Given the description of an element on the screen output the (x, y) to click on. 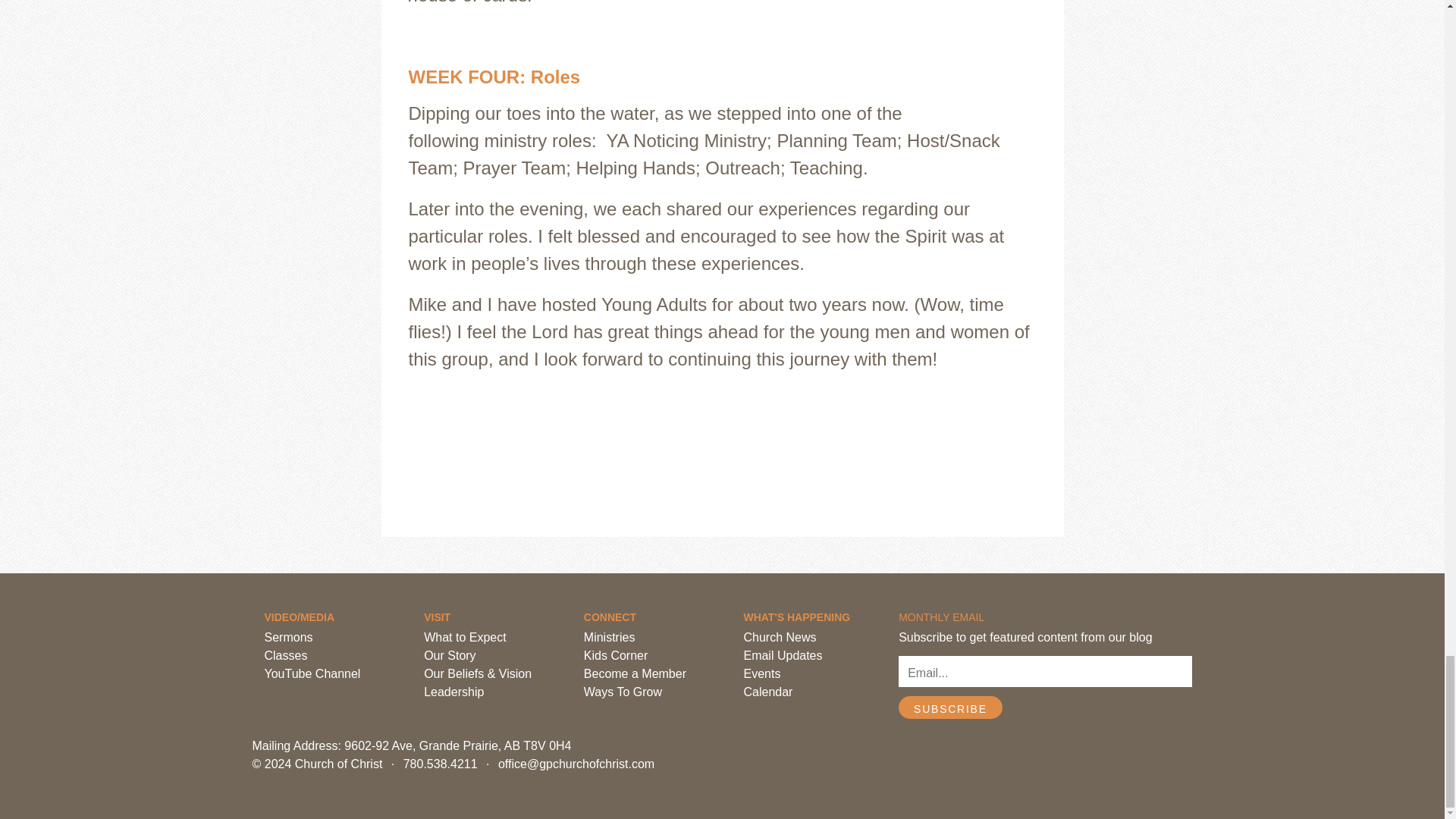
Sermons (288, 636)
Subscribe (950, 707)
Classes (285, 655)
